Given the description of an element on the screen output the (x, y) to click on. 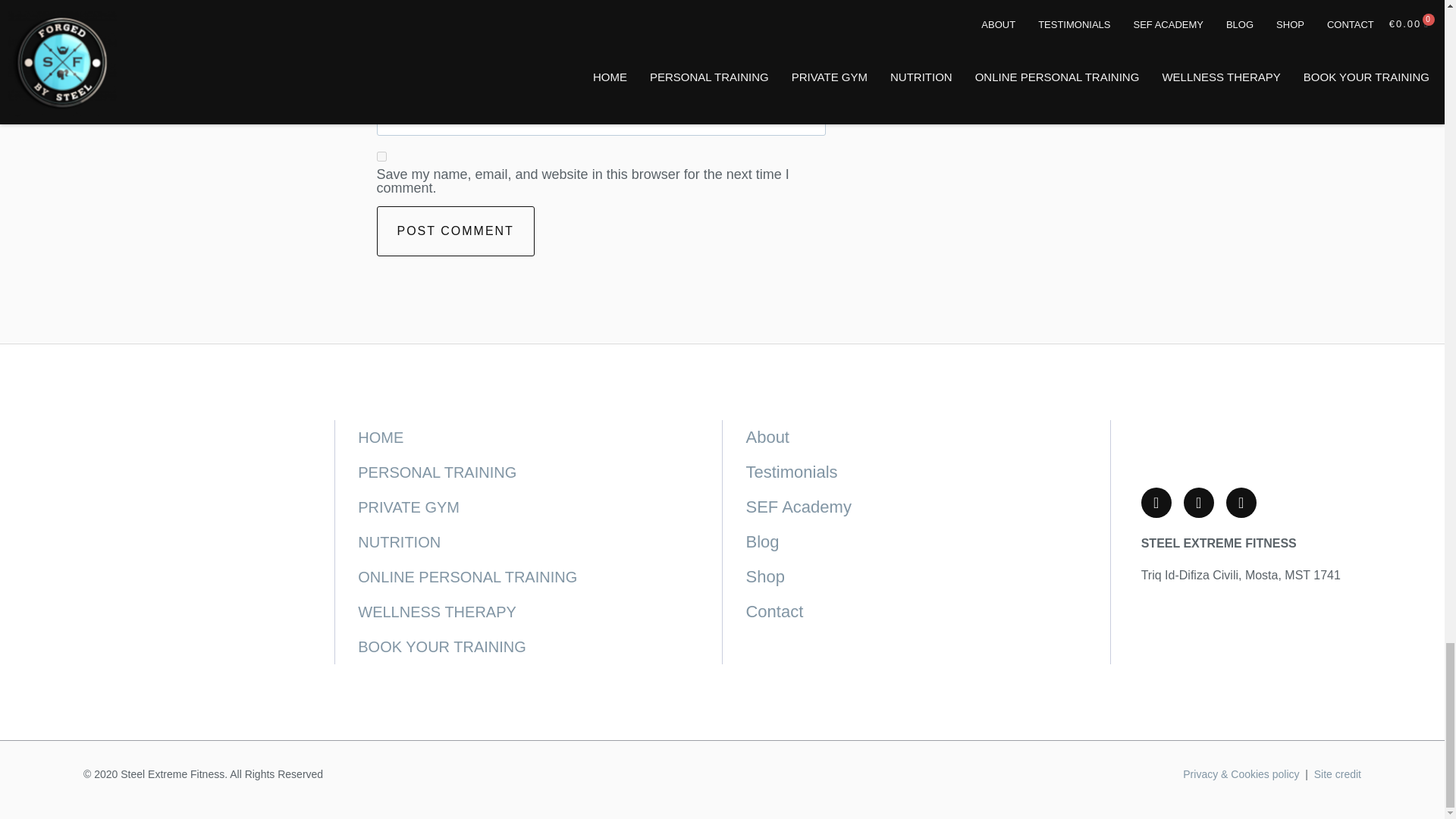
Post Comment (454, 231)
yes (380, 156)
